Given the description of an element on the screen output the (x, y) to click on. 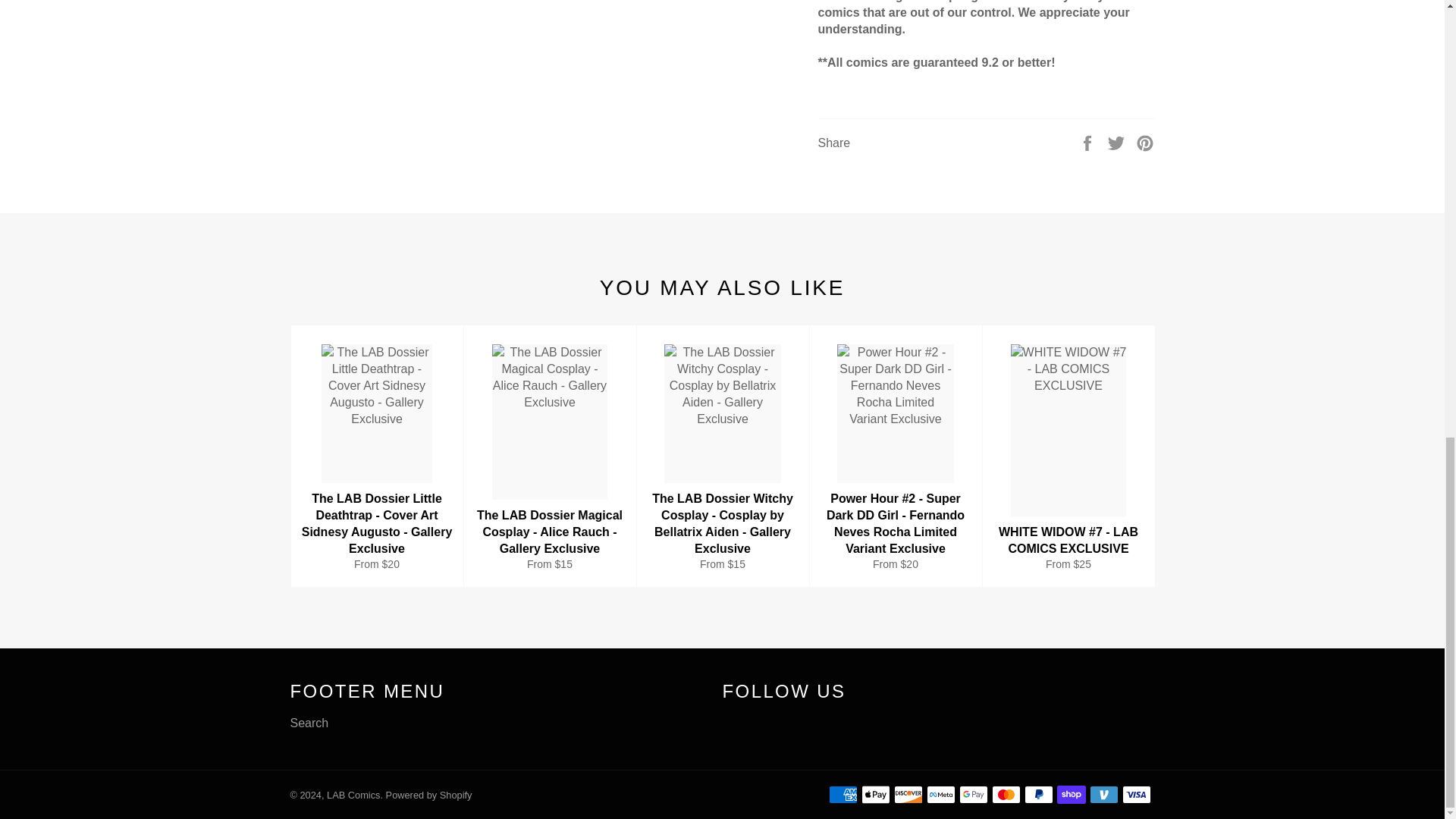
Share on Facebook (1088, 141)
Pin on Pinterest (1144, 141)
Tweet on Twitter (1117, 141)
